Given the description of an element on the screen output the (x, y) to click on. 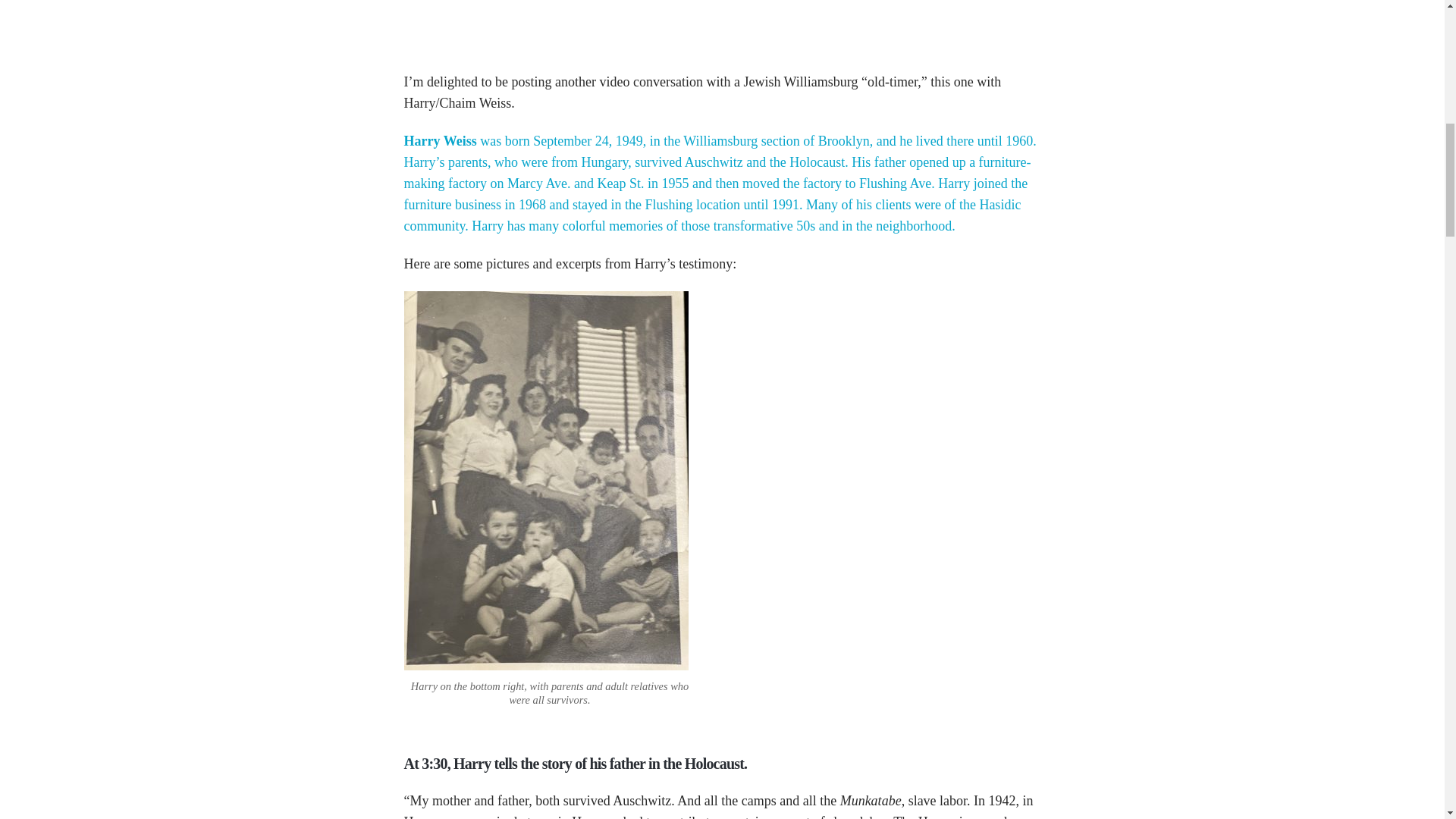
Interview with Harry Weiss, former Williamsburg resident (805, 24)
FareHarbor (1342, 64)
